Given the description of an element on the screen output the (x, y) to click on. 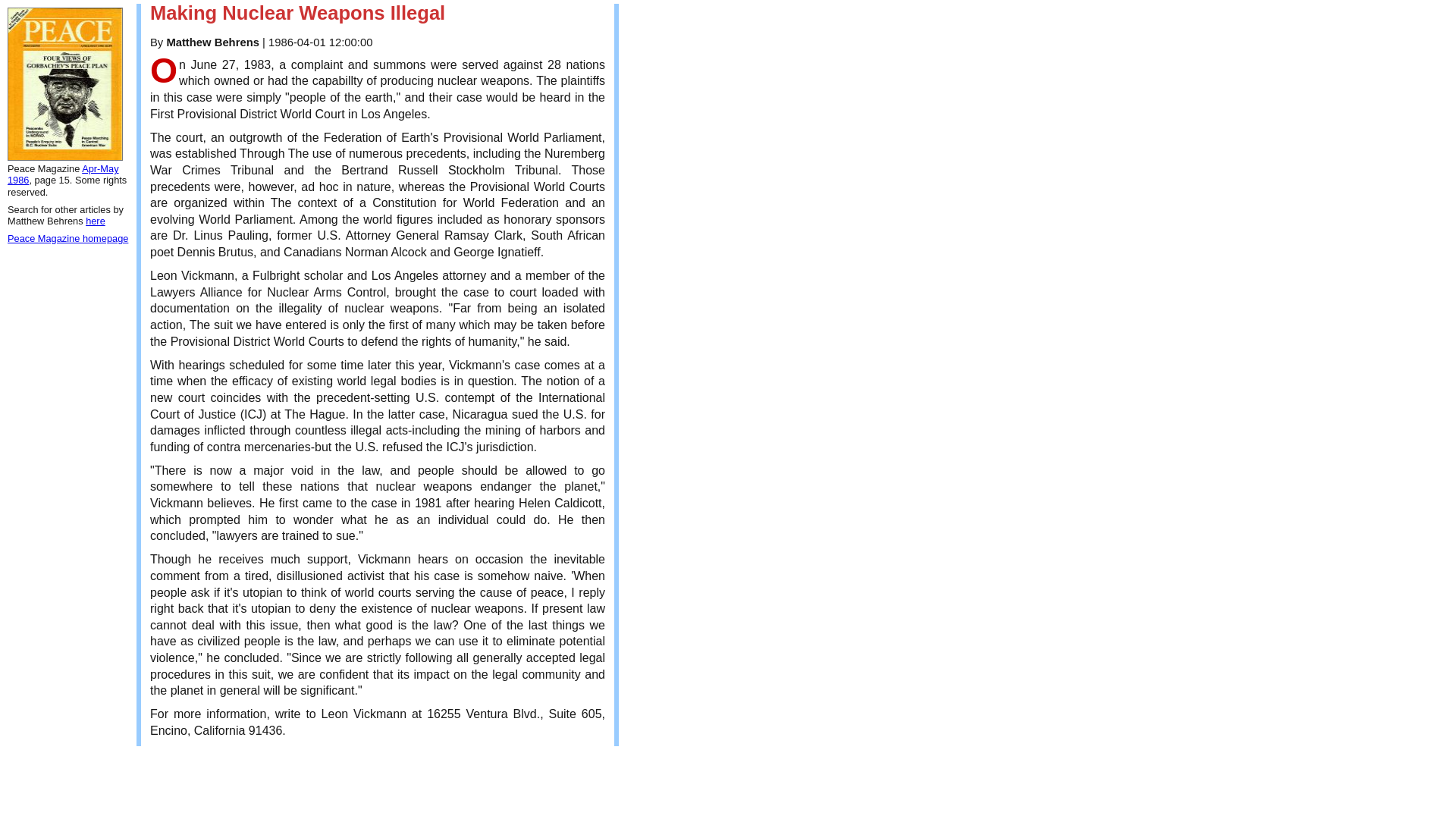
Peace Magazine homepage (67, 238)
here (94, 220)
Apr-May 1986 (63, 173)
